Given the description of an element on the screen output the (x, y) to click on. 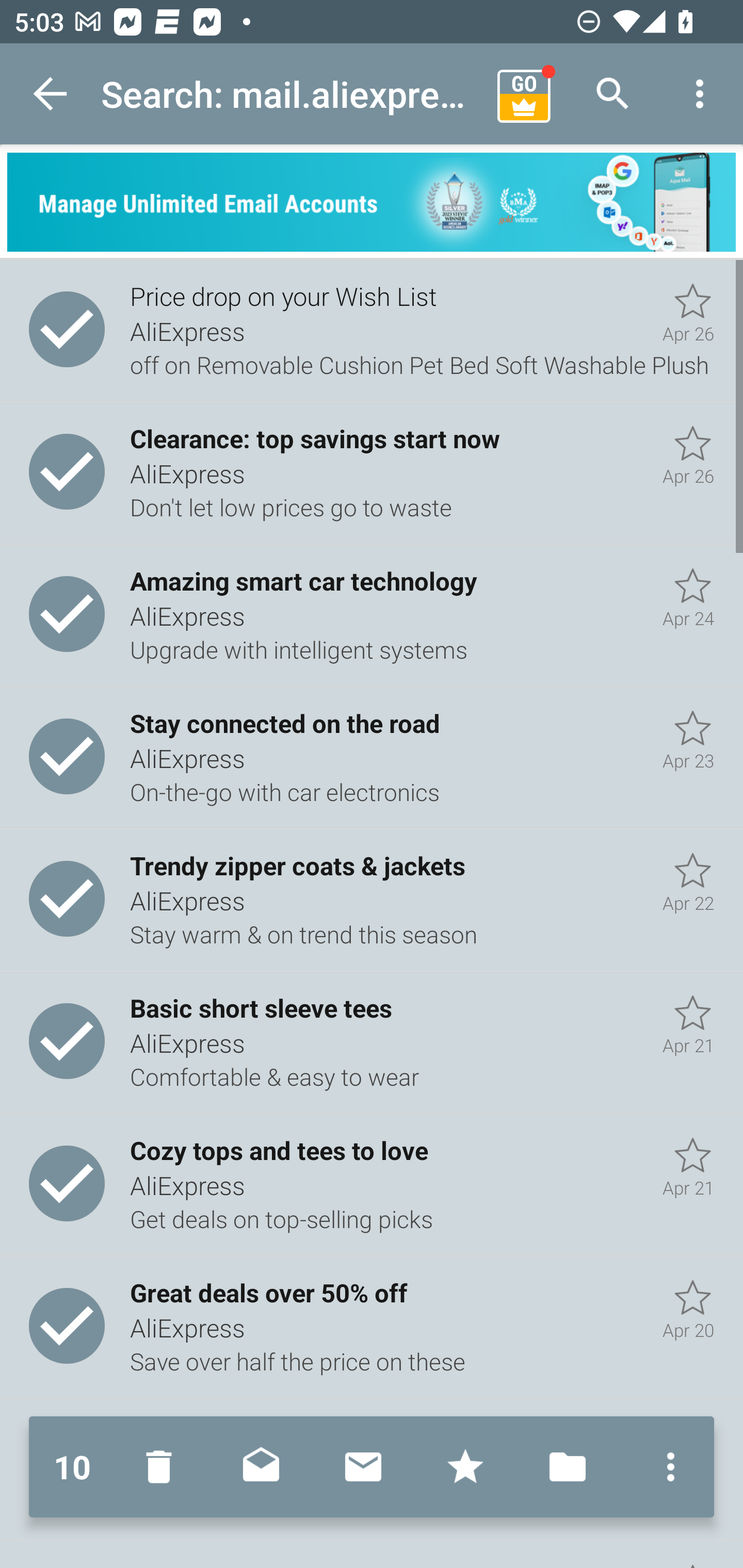
Navigate up (50, 93)
Search (612, 93)
More options (699, 93)
10 10 messages (71, 1466)
Move to Deleted (162, 1466)
Mark read (261, 1466)
Mark unread (363, 1466)
Mark with stars (465, 1466)
Move to folder… (567, 1466)
More options (666, 1466)
